Given the description of an element on the screen output the (x, y) to click on. 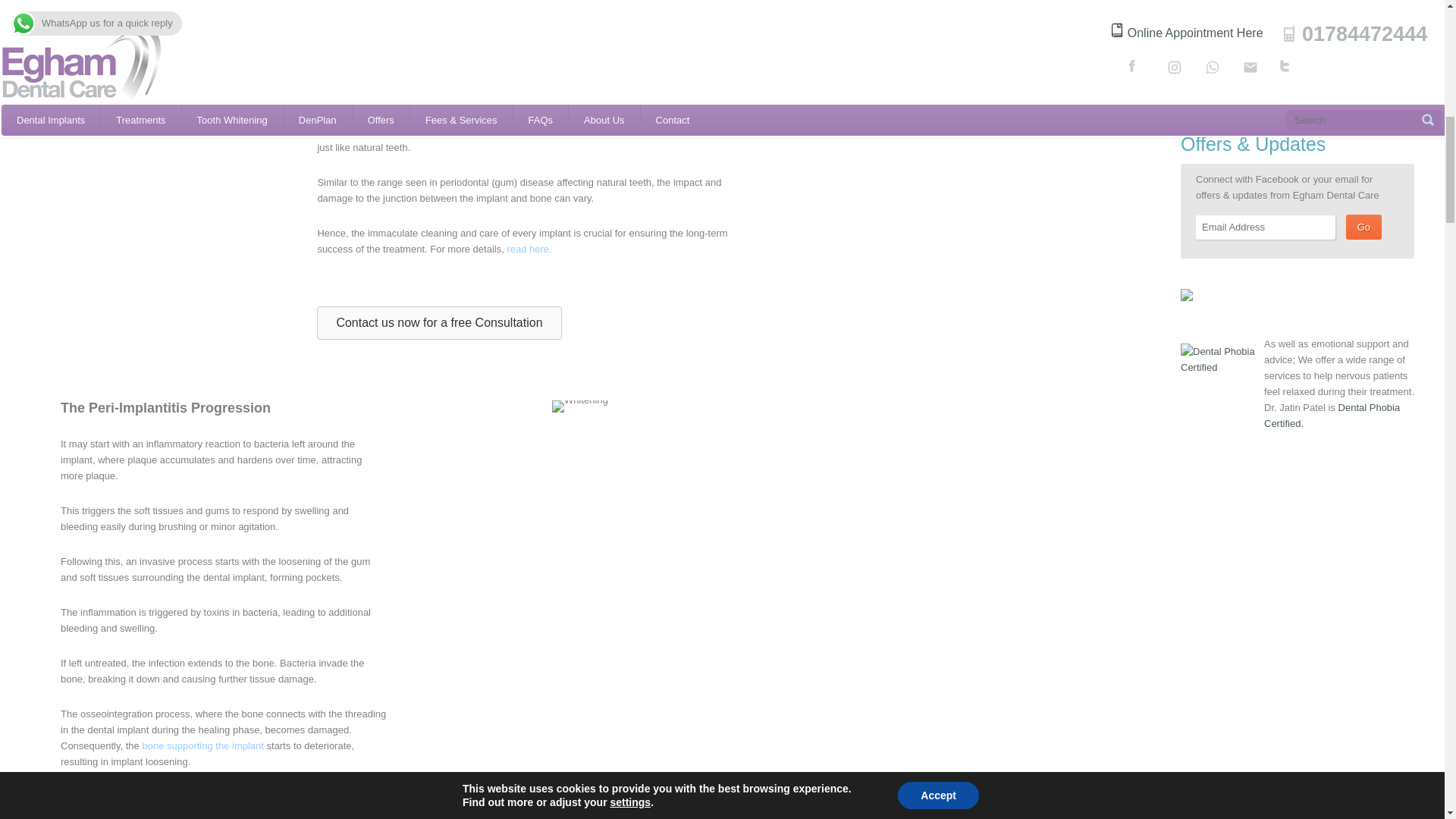
Whitening (579, 406)
Go (1363, 226)
Smile Makeover (173, 59)
Submit Request (1250, 59)
